Given the description of an element on the screen output the (x, y) to click on. 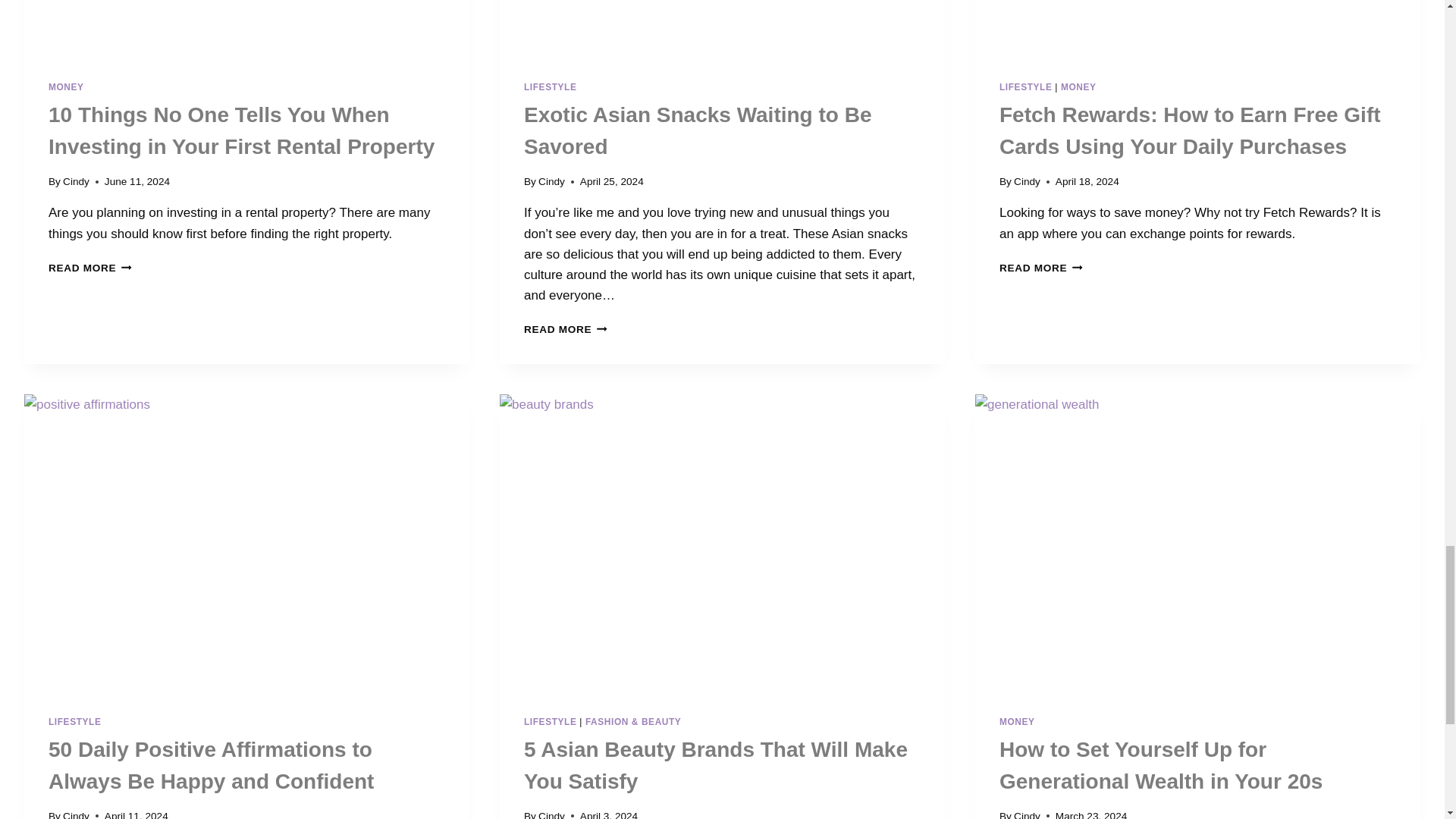
LIFESTYLE (550, 86)
MONEY (1078, 86)
LIFESTYLE (74, 721)
Exotic Asian Snacks Waiting to Be Savored (697, 130)
5 Asian Beauty Brands That Will Make You Satisfy (715, 765)
MONEY (565, 328)
LIFESTYLE (66, 86)
LIFESTYLE (550, 721)
